Given the description of an element on the screen output the (x, y) to click on. 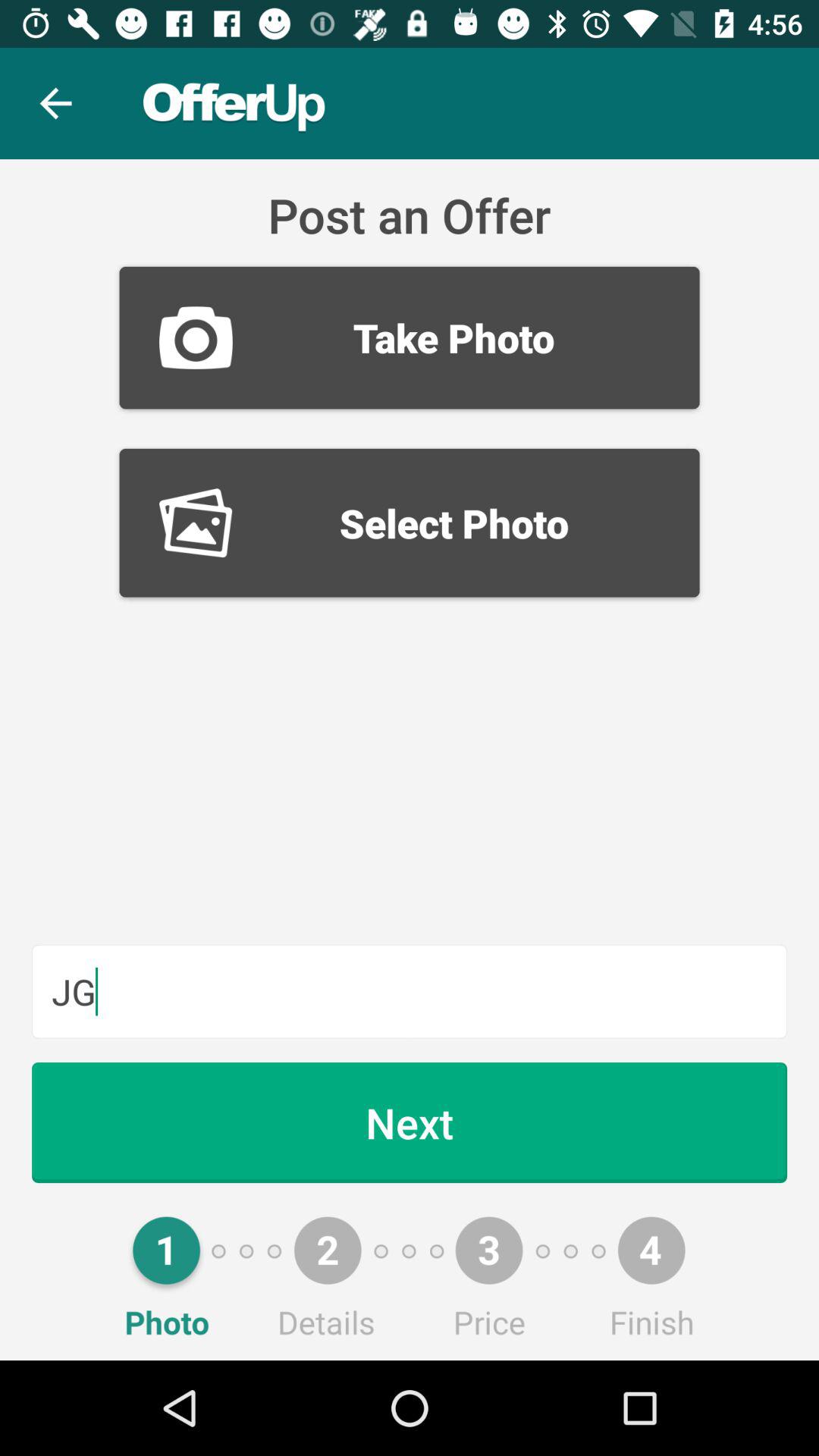
select the icon above jg (409, 522)
